Given the description of an element on the screen output the (x, y) to click on. 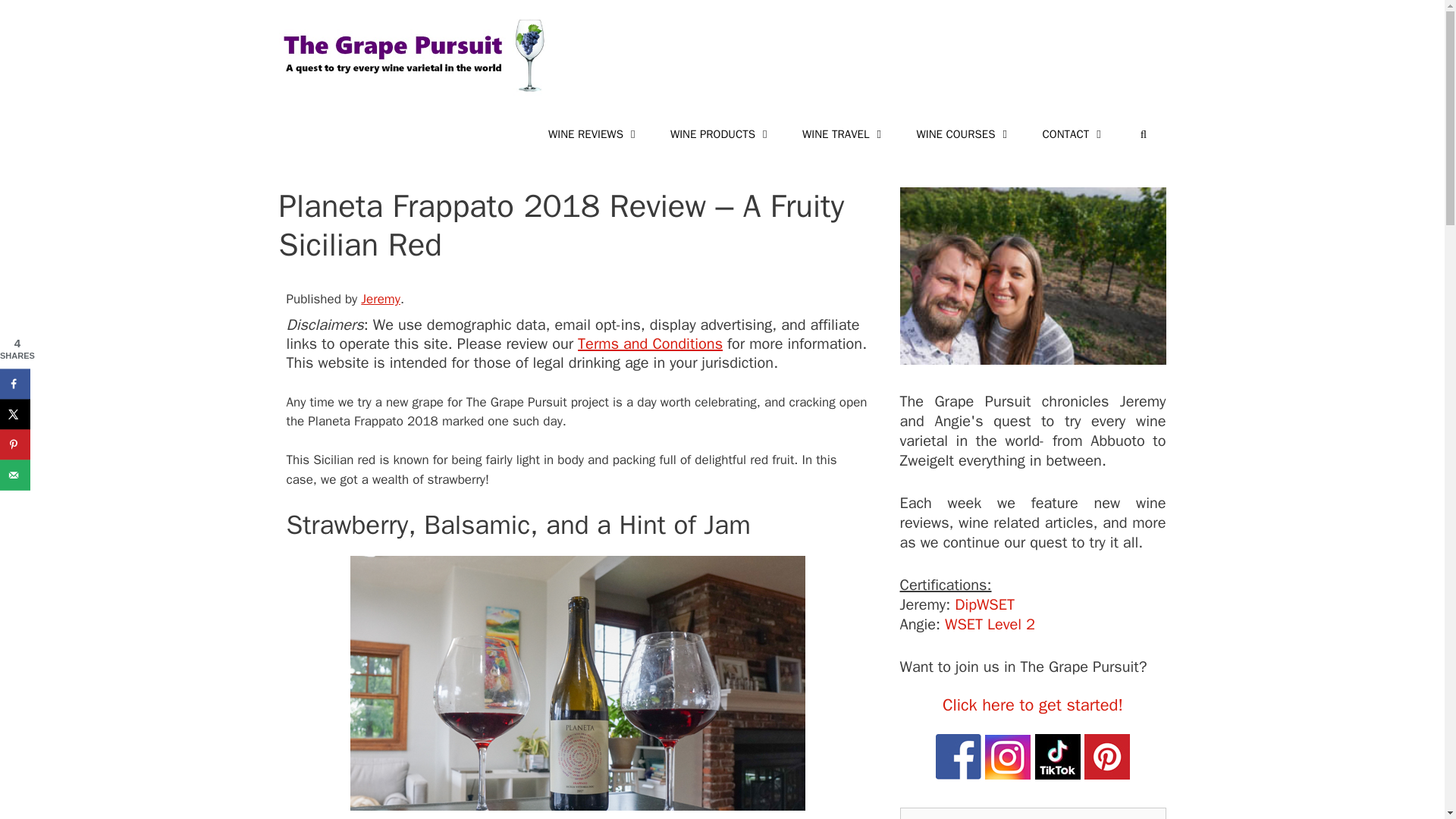
WINE REVIEWS (593, 134)
Facebook (958, 756)
The Grape Pursuit (1032, 279)
Instagram (1007, 756)
Pinterest (1106, 756)
Frappato from Sicily (577, 687)
WINE TRAVEL (844, 134)
WINE PRODUCTS (721, 134)
WINE COURSES (963, 134)
TikTok (1057, 756)
Search for: (1032, 813)
